Given the description of an element on the screen output the (x, y) to click on. 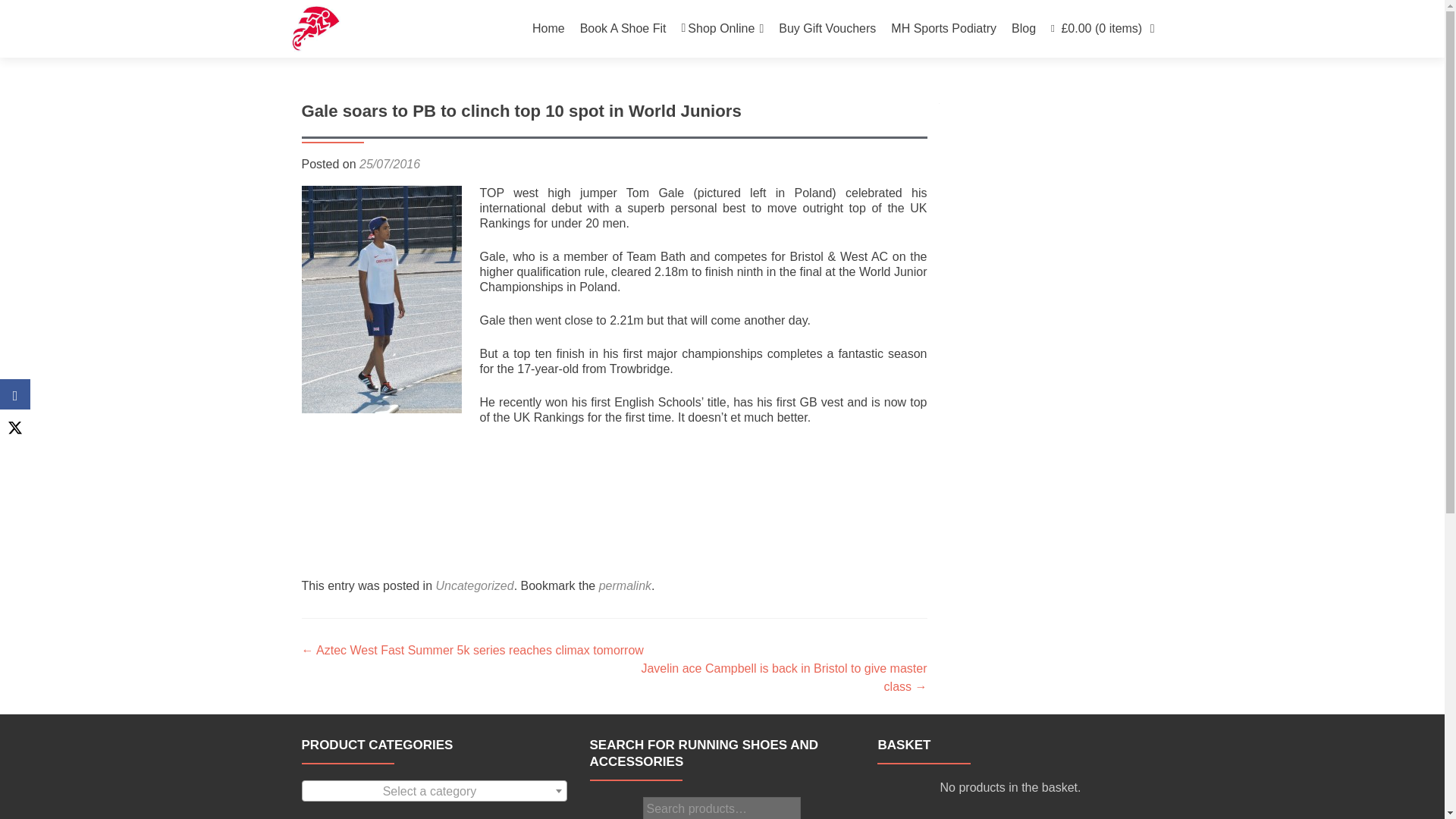
MH Sports Podiatry (943, 28)
Book A Shoe Fit (622, 28)
Blog (1023, 28)
Shop Online (721, 28)
permalink (624, 585)
Uncategorized (474, 585)
View your shopping cart (1102, 28)
Buy Gift Vouchers (827, 28)
Home (548, 28)
